Given the description of an element on the screen output the (x, y) to click on. 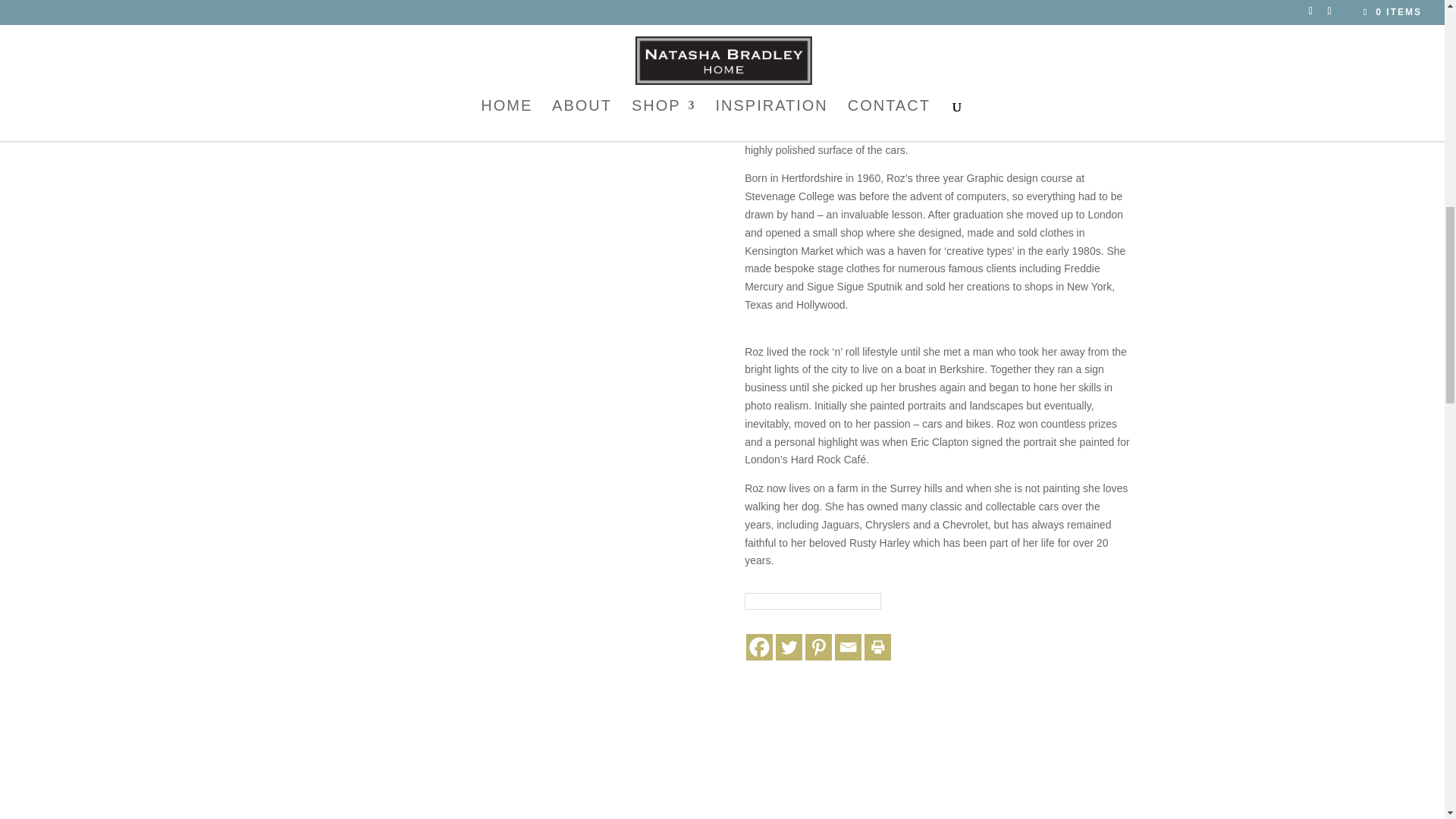
Pinterest (818, 646)
Print (877, 646)
Email (847, 646)
Twitter (789, 646)
Facebook (759, 646)
